Given the description of an element on the screen output the (x, y) to click on. 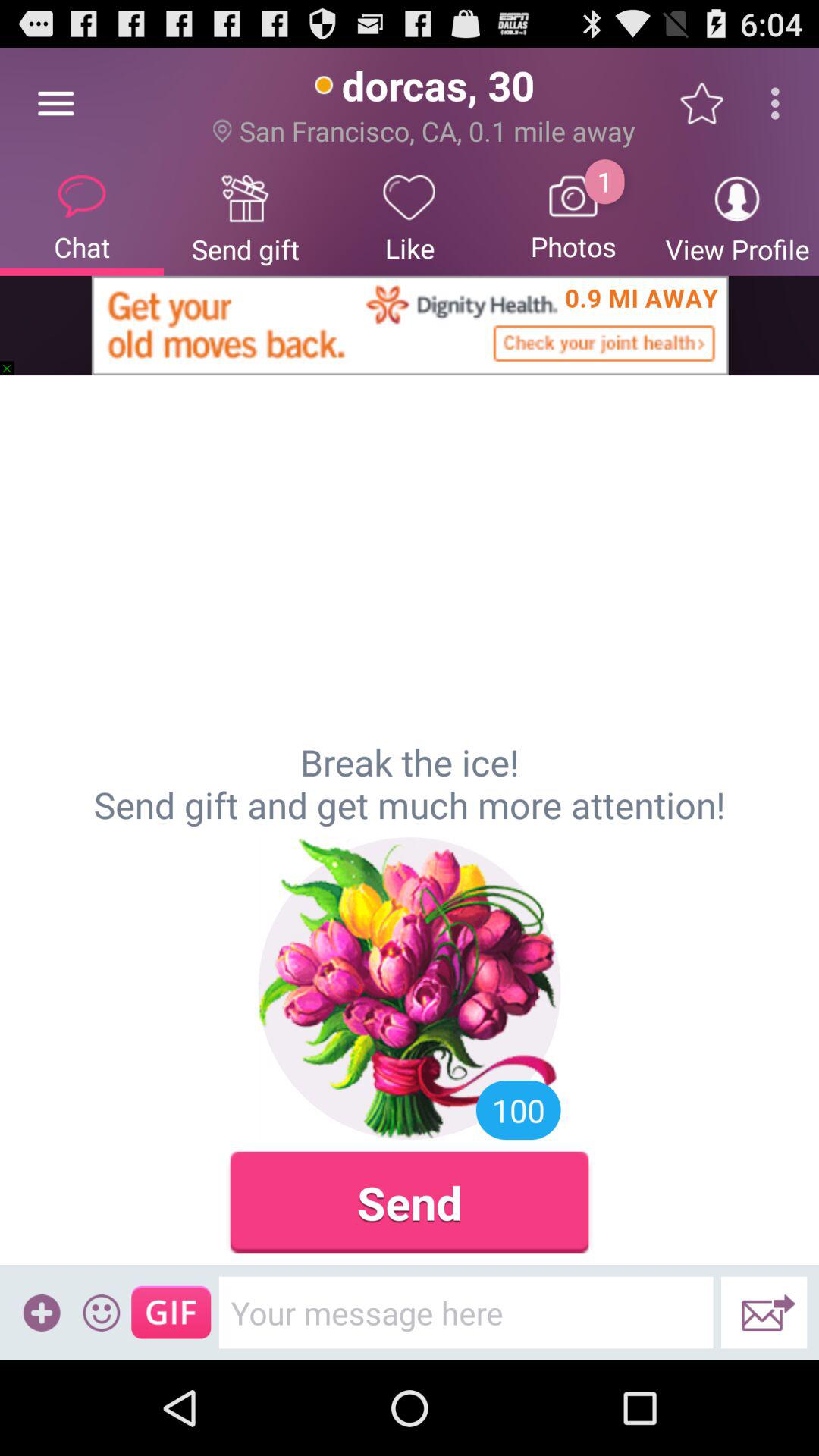
swipe until view profile icon (737, 217)
